Given the description of an element on the screen output the (x, y) to click on. 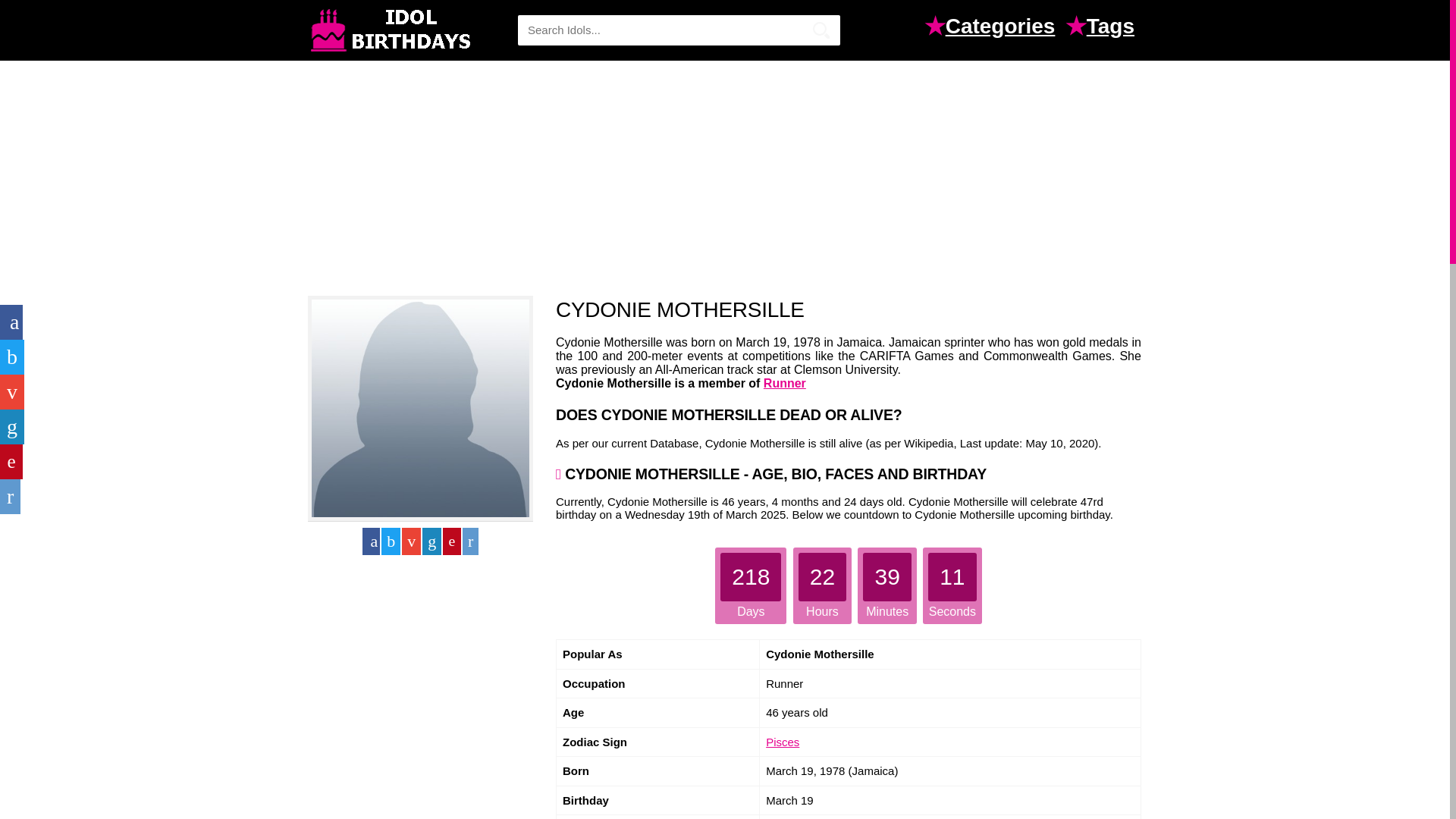
Tags (1113, 28)
SEARCH (820, 30)
Tags (1113, 28)
Categories (1003, 28)
Cydonie Mothersille (420, 407)
